Given the description of an element on the screen output the (x, y) to click on. 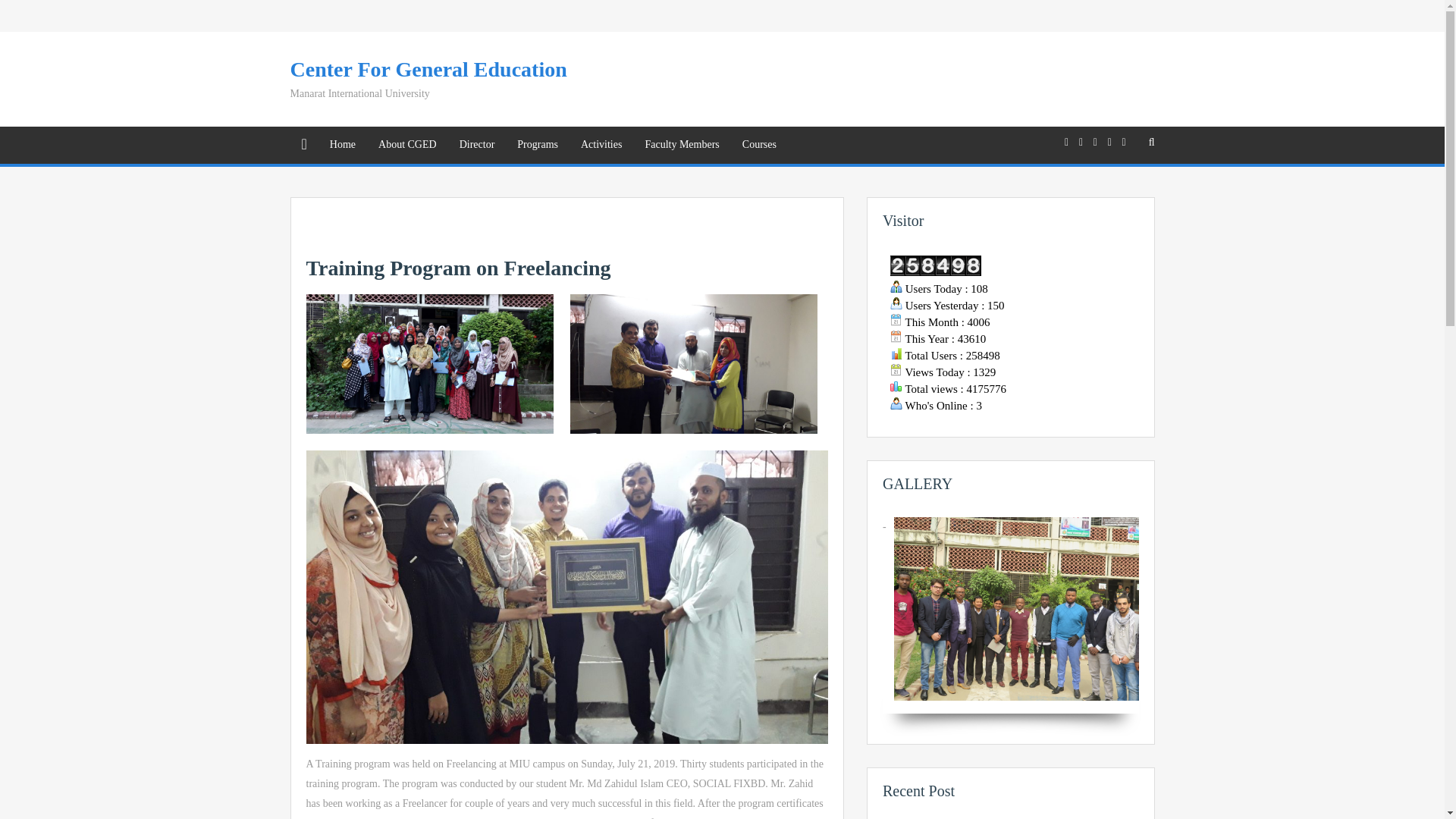
Home (342, 144)
Center For General Education (427, 69)
Director (477, 144)
Courses (758, 144)
Faculty Members (681, 144)
Activities (601, 144)
Programs (537, 144)
About CGED (407, 144)
